Given the description of an element on the screen output the (x, y) to click on. 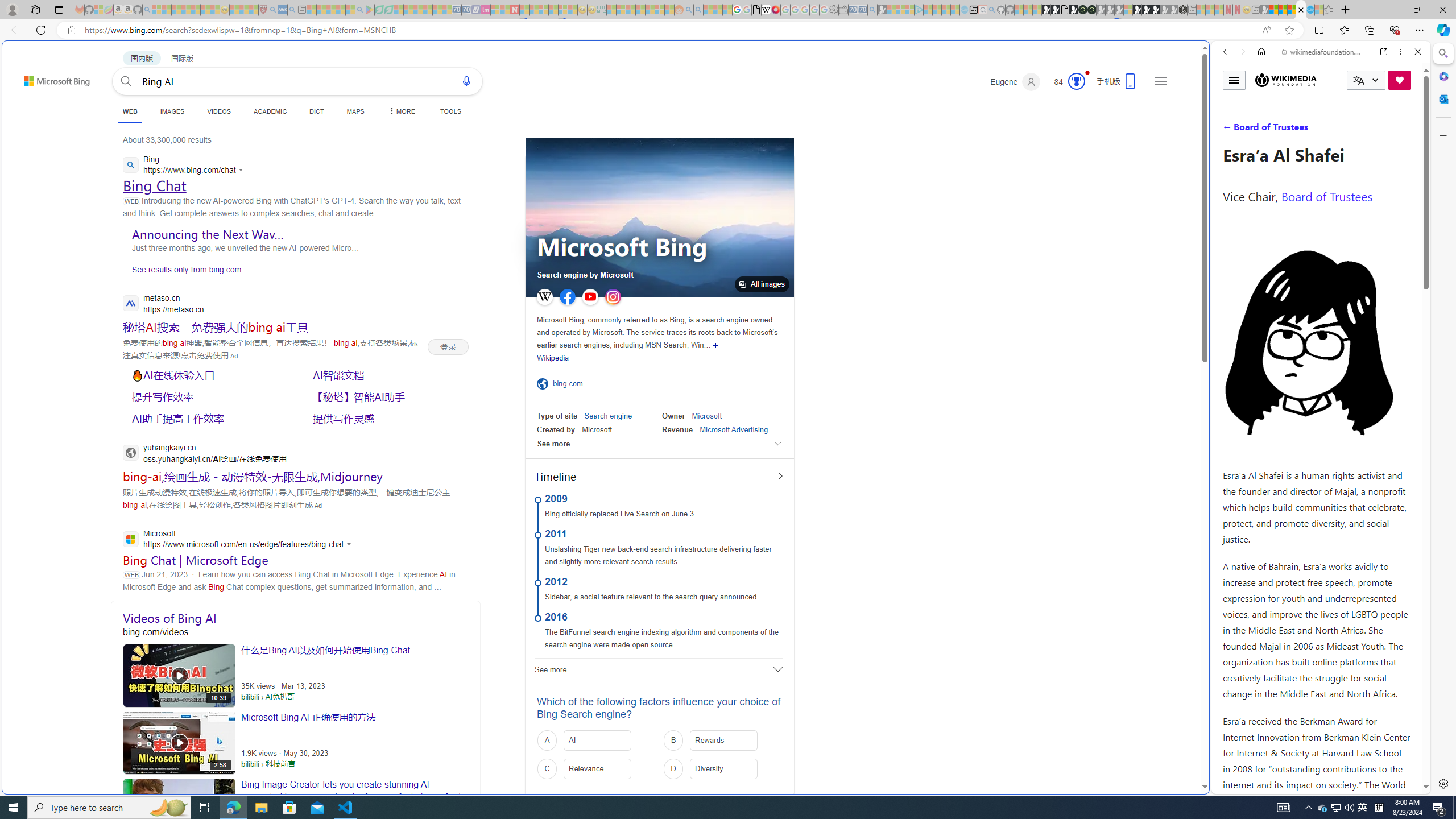
Settings - Sleeping (833, 9)
Wiktionary (1315, 380)
MAPS (355, 111)
Play Zoo Boom in your browser | Games from Microsoft Start (1054, 9)
Close split screen (1208, 57)
Open link in new tab (1383, 51)
Tabs you've opened (885, 151)
Home | Sky Blue Bikes - Sky Blue Bikes (1118, 242)
Robert H. Shmerling, MD - Harvard Health - Sleeping (263, 9)
